Given the description of an element on the screen output the (x, y) to click on. 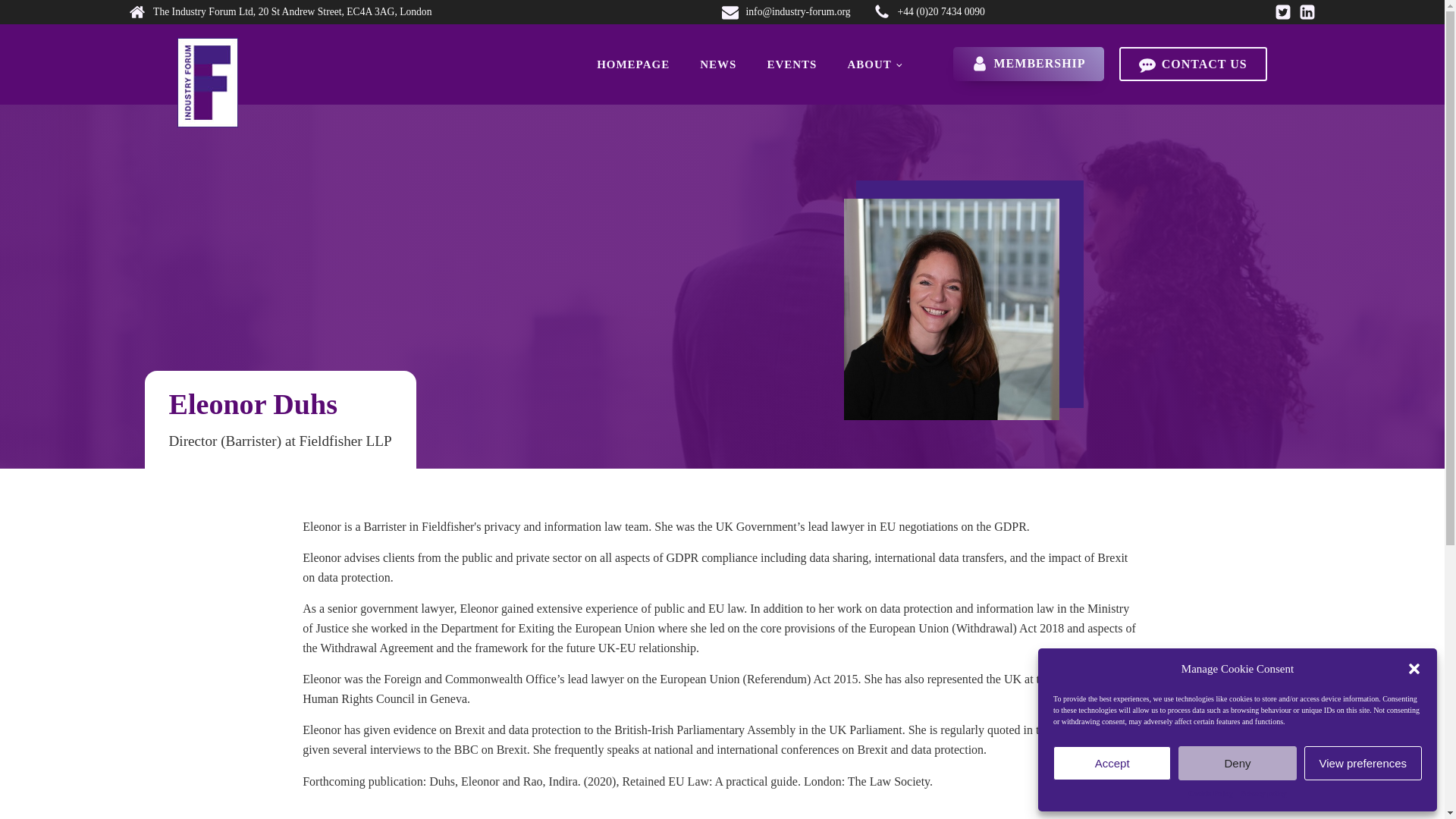
Deny (1236, 763)
EVENTS (791, 64)
HOMEPAGE (632, 64)
ABOUT (873, 64)
Privacy policy (1263, 793)
View preferences (1363, 763)
Accept (1111, 763)
MEMBERSHIP (1027, 63)
CONTACT US (1192, 63)
NEWS (717, 64)
